Given the description of an element on the screen output the (x, y) to click on. 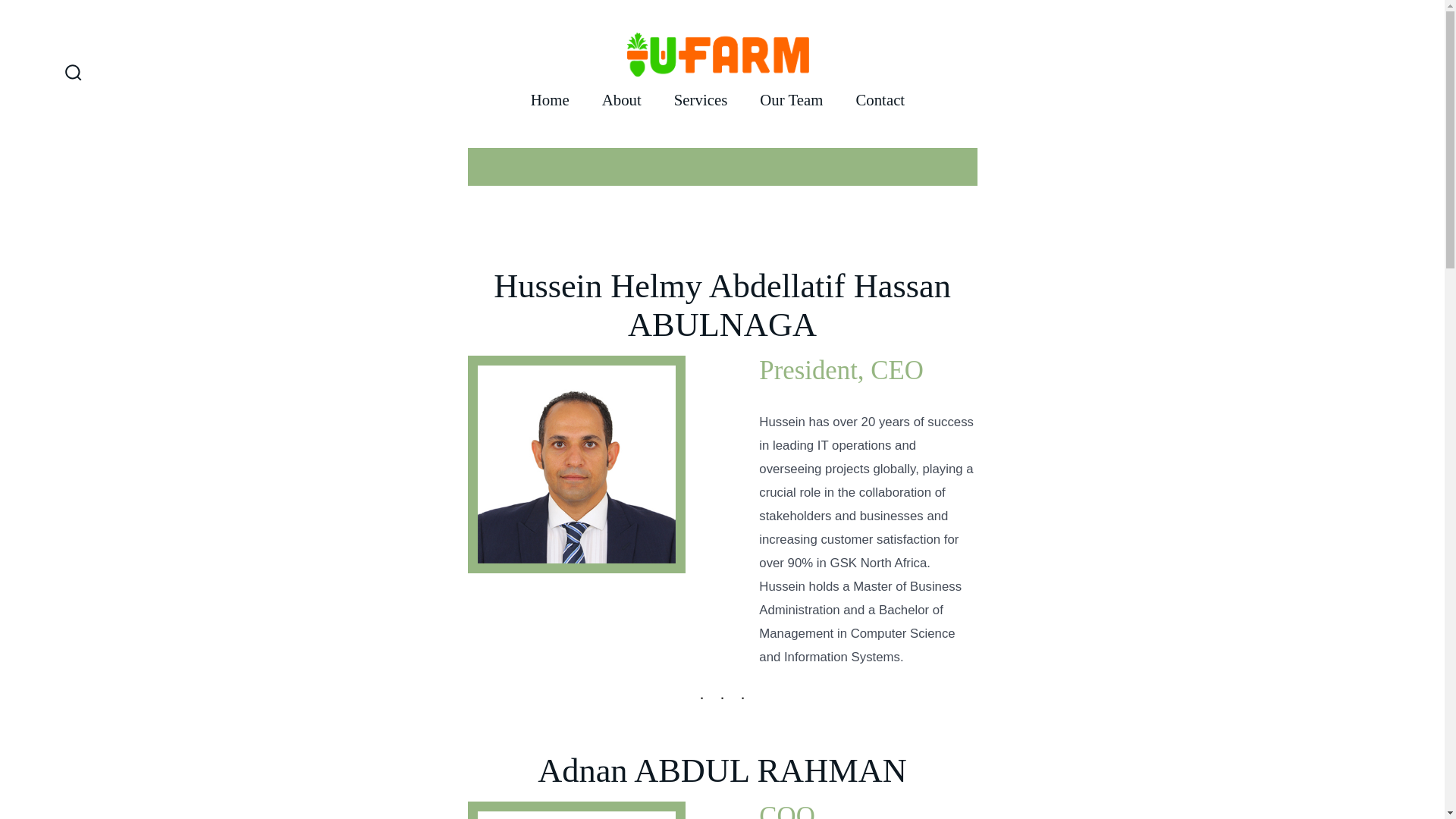
Home (550, 99)
Search Toggle (73, 73)
Contact (880, 99)
Our Team (791, 99)
Services (700, 99)
About (622, 99)
